Given the description of an element on the screen output the (x, y) to click on. 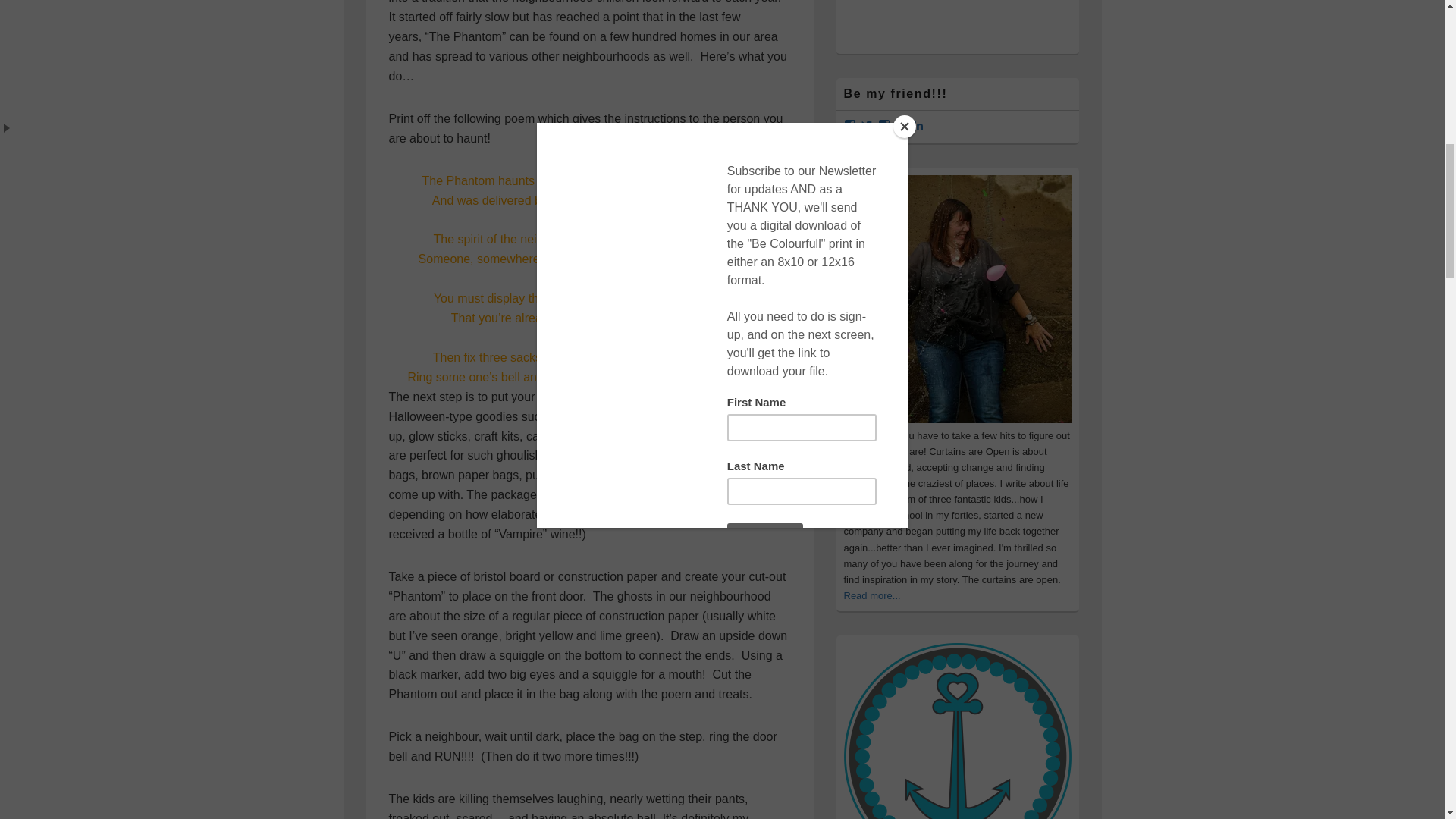
Advertisement (956, 20)
Read more... (871, 595)
